Given the description of an element on the screen output the (x, y) to click on. 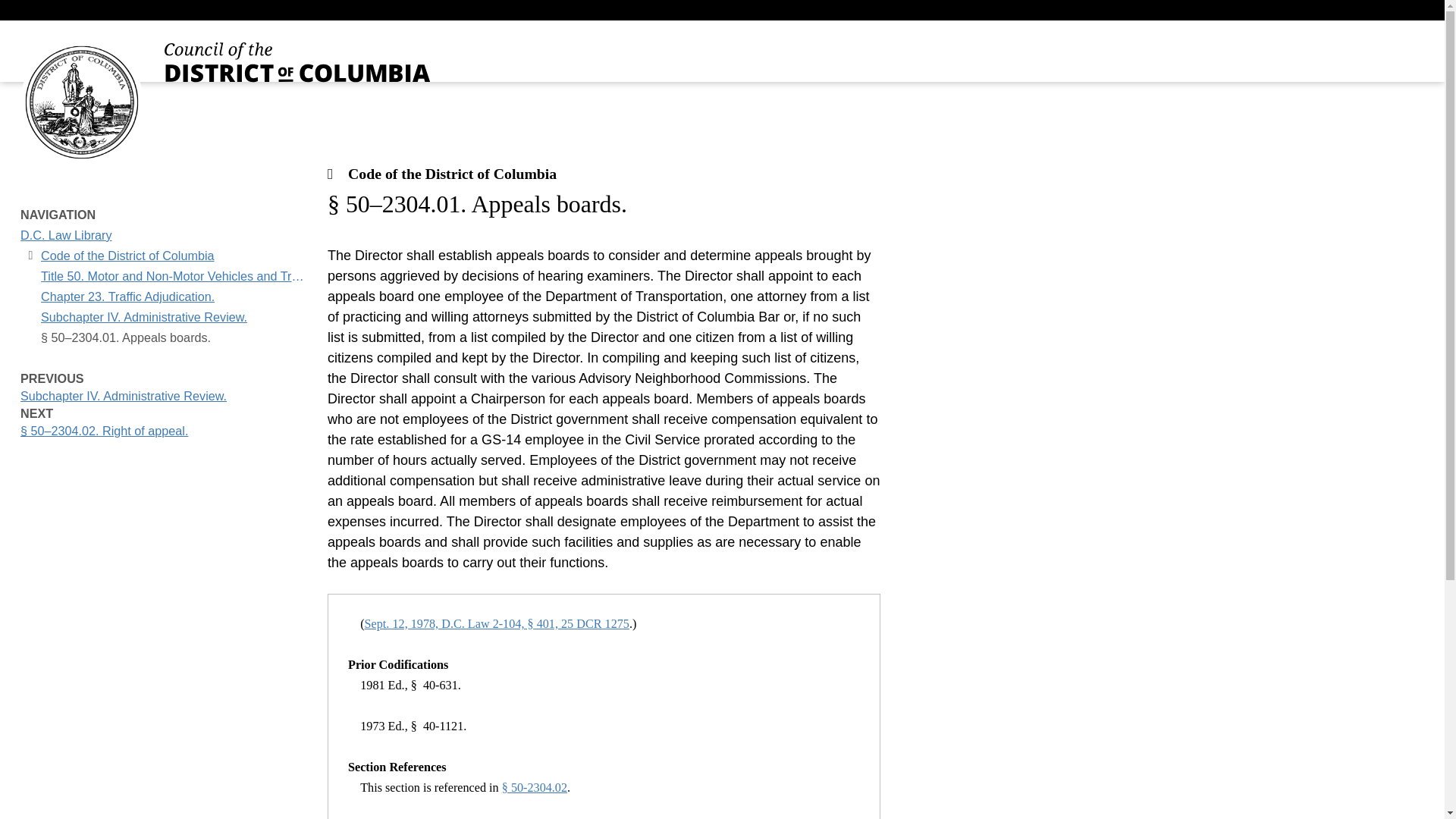
Title 50. Motor and Non-Motor Vehicles and Traffic. (173, 276)
Chapter 23. Traffic Adjudication. (127, 296)
Title 50. Motor and Non-Motor Vehicles and Traffic. (163, 386)
D.C. Law Library (173, 276)
Chapter 23. Traffic Adjudication. (66, 235)
Subchapter IV. Administrative Review. (127, 296)
Code of the District of Columbia (143, 317)
D.C. Law Library (127, 255)
Subchapter IV. Administrative Review. (66, 235)
